Given the description of an element on the screen output the (x, y) to click on. 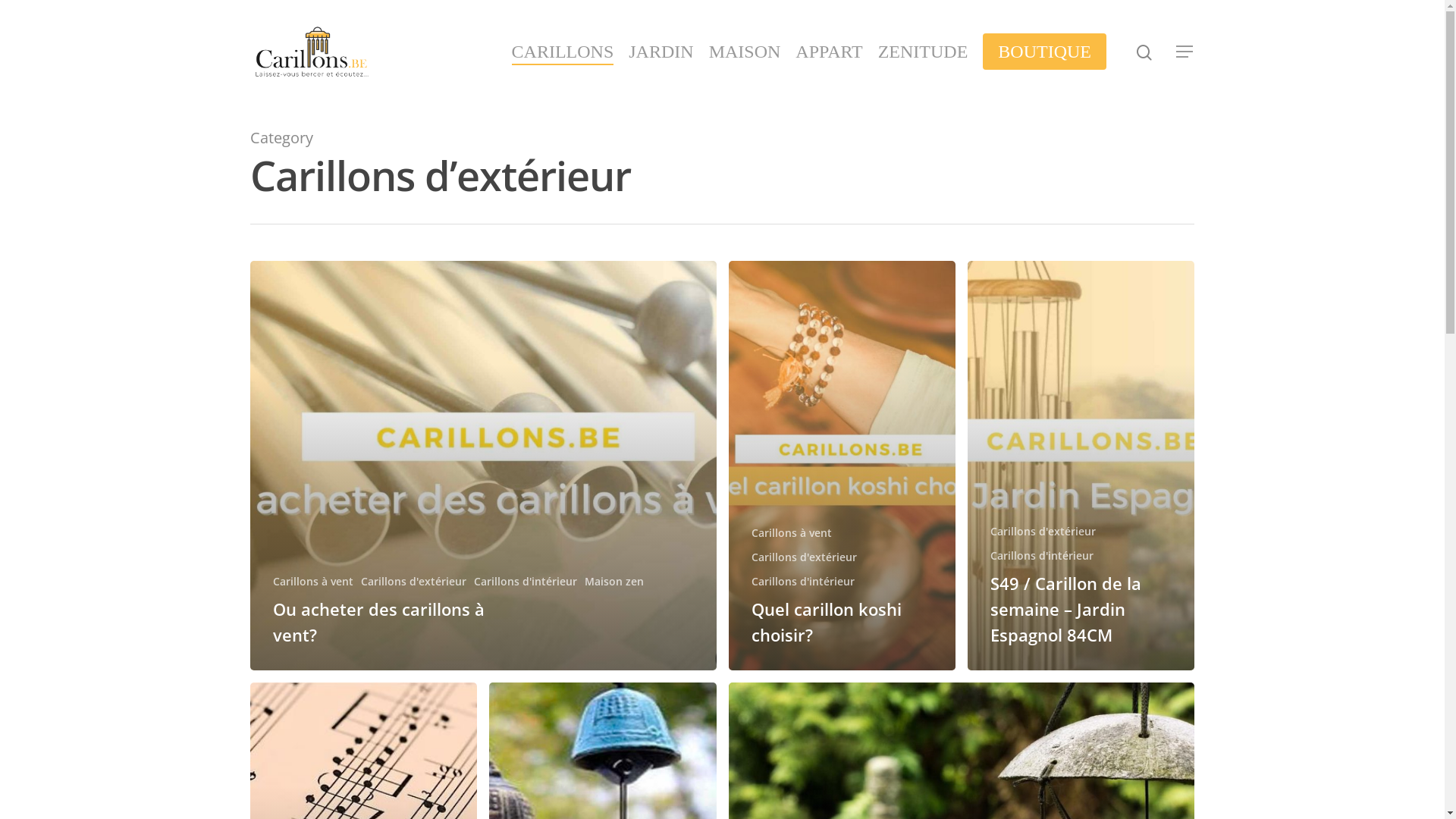
APPART Element type: text (828, 51)
ZENITUDE Element type: text (923, 51)
BOUTIQUE Element type: text (1044, 51)
MAISON Element type: text (745, 51)
JARDIN Element type: text (660, 51)
Quel carillon koshi choisir? Element type: text (825, 621)
CARILLONS Element type: text (562, 51)
Maison zen Element type: text (613, 581)
